Given the description of an element on the screen output the (x, y) to click on. 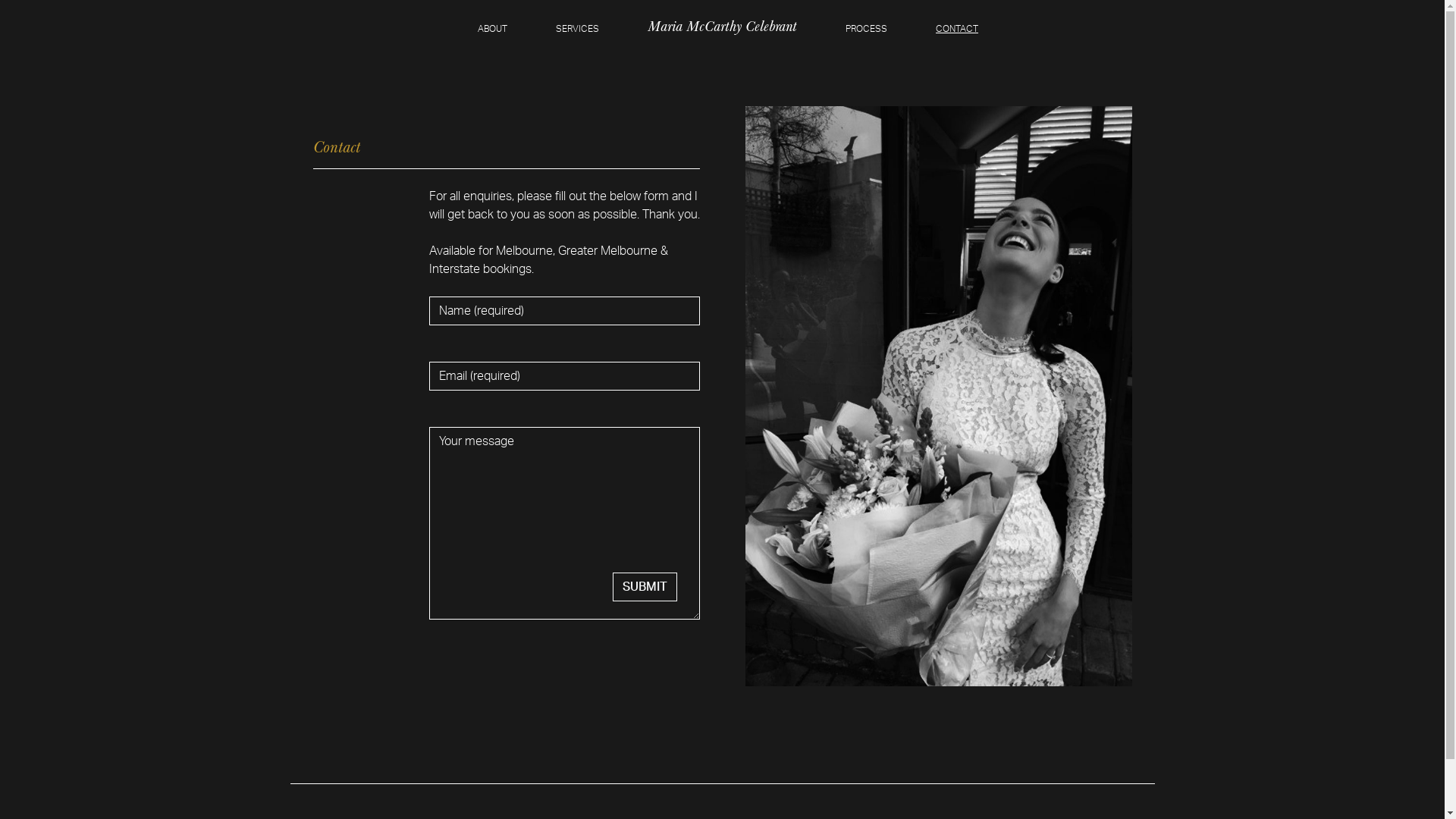
CONTACT
(CURRENT) Element type: text (956, 28)
Submit Element type: text (644, 586)
ABOUT Element type: text (492, 28)
Maria McCarthy Celebrant Element type: text (722, 25)
PROCESS Element type: text (866, 28)
SERVICES Element type: text (577, 28)
